Given the description of an element on the screen output the (x, y) to click on. 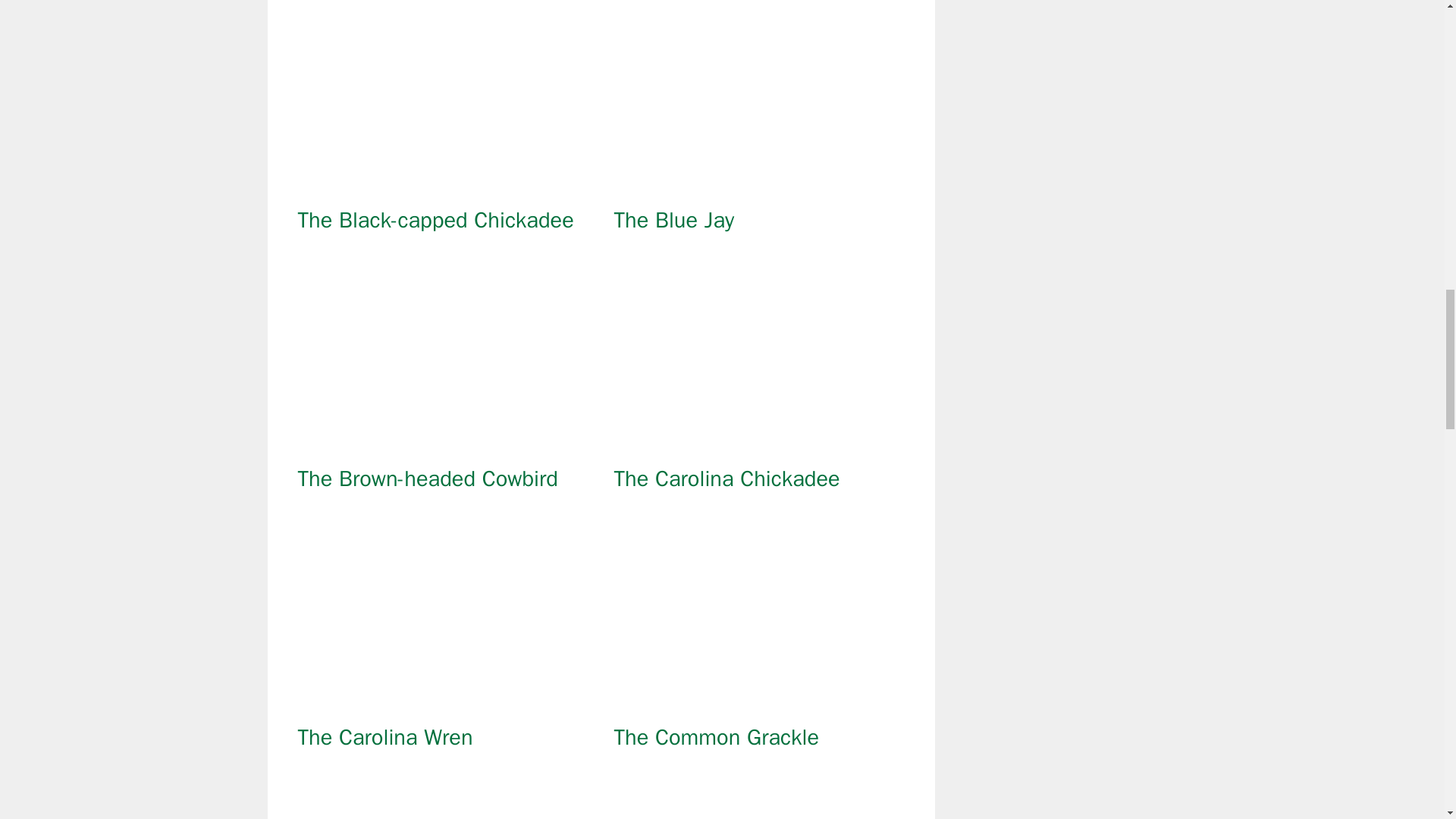
The Carolina Chickadee (727, 479)
The Brown-headed Cowbird (427, 479)
The Black-capped Chickadee (442, 185)
The Carolina Wren (384, 737)
The Brown-headed Cowbird (442, 443)
The Blue Jay (674, 220)
The Common Grackle (759, 702)
The Carolina Wren (442, 702)
The Blue Jay (759, 185)
The Black-capped Chickadee (435, 220)
The Carolina Chickadee (759, 443)
